Given the description of an element on the screen output the (x, y) to click on. 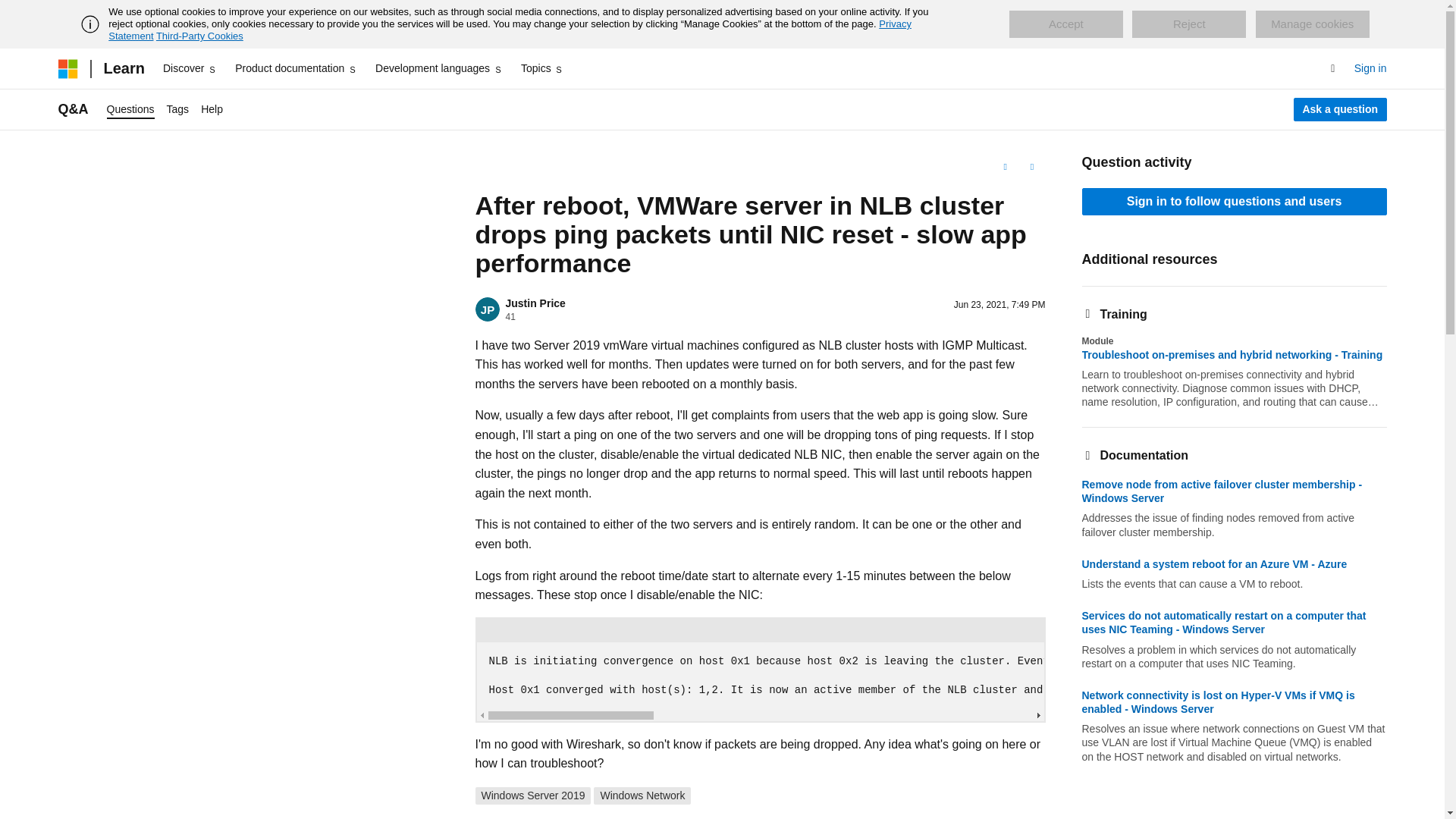
Accept (1065, 23)
Learn (123, 68)
Product documentation (295, 68)
Justin Price (534, 303)
Third-Party Cookies (199, 35)
Reject (1189, 23)
Reputation points (510, 317)
Share this question (1031, 166)
Questions (130, 109)
Sign in (1370, 68)
Development languages (438, 68)
Topics (542, 68)
Discover (189, 68)
Privacy Statement (509, 29)
Ask a question (1340, 109)
